Given the description of an element on the screen output the (x, y) to click on. 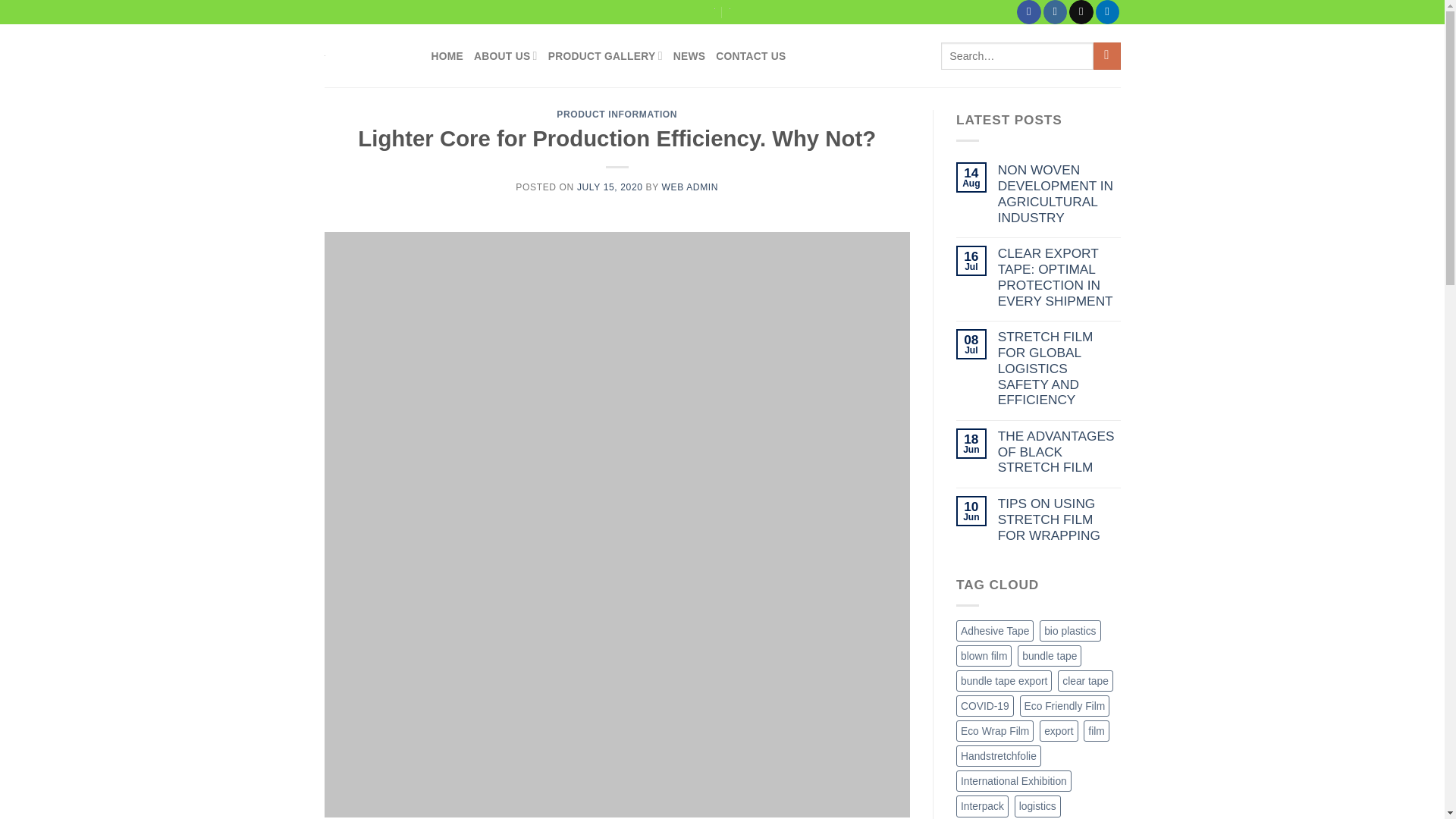
JULY 15, 2020 (609, 186)
CLEAR EXPORT TAPE: OPTIMAL PROTECTION IN EVERY SHIPMENT (1059, 276)
PRODUCT INFORMATION (616, 113)
WEB ADMIN (690, 186)
ABOUT US (505, 55)
THE ADVANTAGES OF BLACK STRETCH FILM (1059, 451)
STRETCH FILM FOR GLOBAL LOGISTICS SAFETY AND EFFICIENCY (1059, 368)
Follow on LinkedIn (1107, 12)
Follow on Facebook (1028, 12)
NEWS (689, 55)
